Given the description of an element on the screen output the (x, y) to click on. 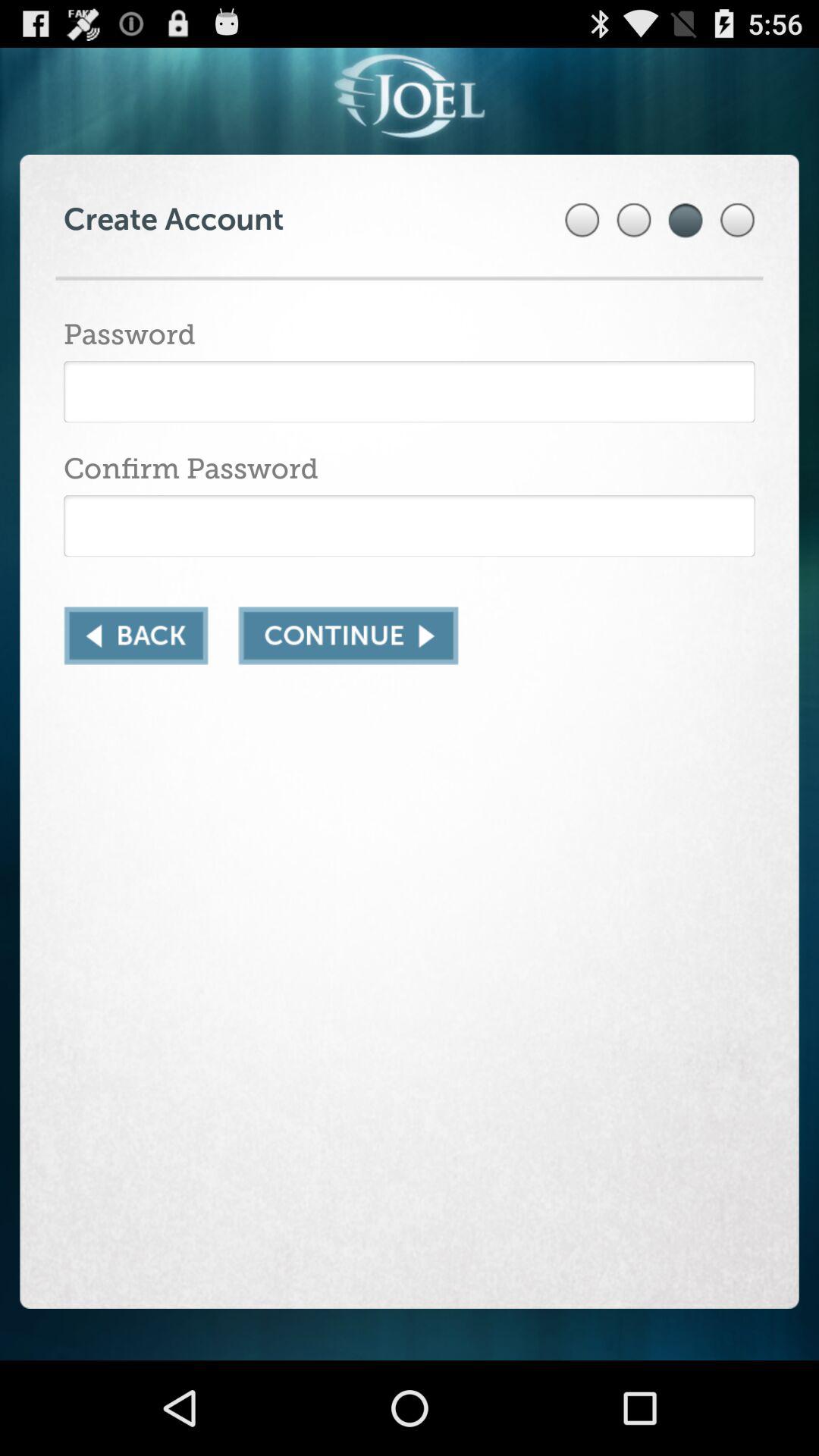
insert password (409, 525)
